Given the description of an element on the screen output the (x, y) to click on. 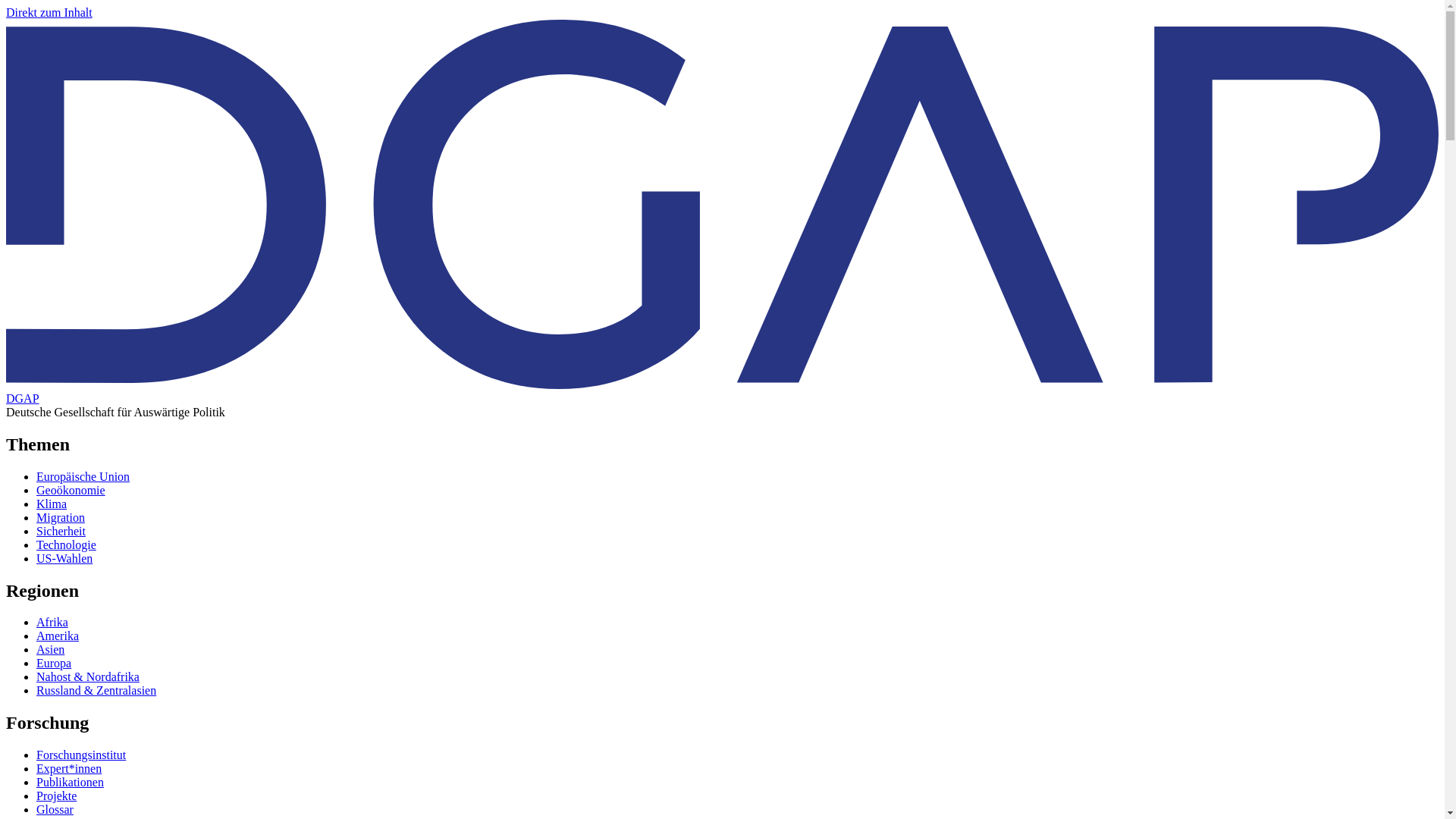
Sicherheit (60, 530)
Amerika (57, 635)
Migration (60, 517)
Startseite (22, 398)
Afrika (52, 621)
Asien (50, 649)
DGAP (22, 398)
Technologie (66, 544)
Europa (53, 662)
Glossar (55, 809)
Klima (51, 503)
Publikationen (69, 781)
Direkt zum Inhalt (49, 11)
US-Wahlen (64, 558)
Projekte (56, 795)
